Given the description of an element on the screen output the (x, y) to click on. 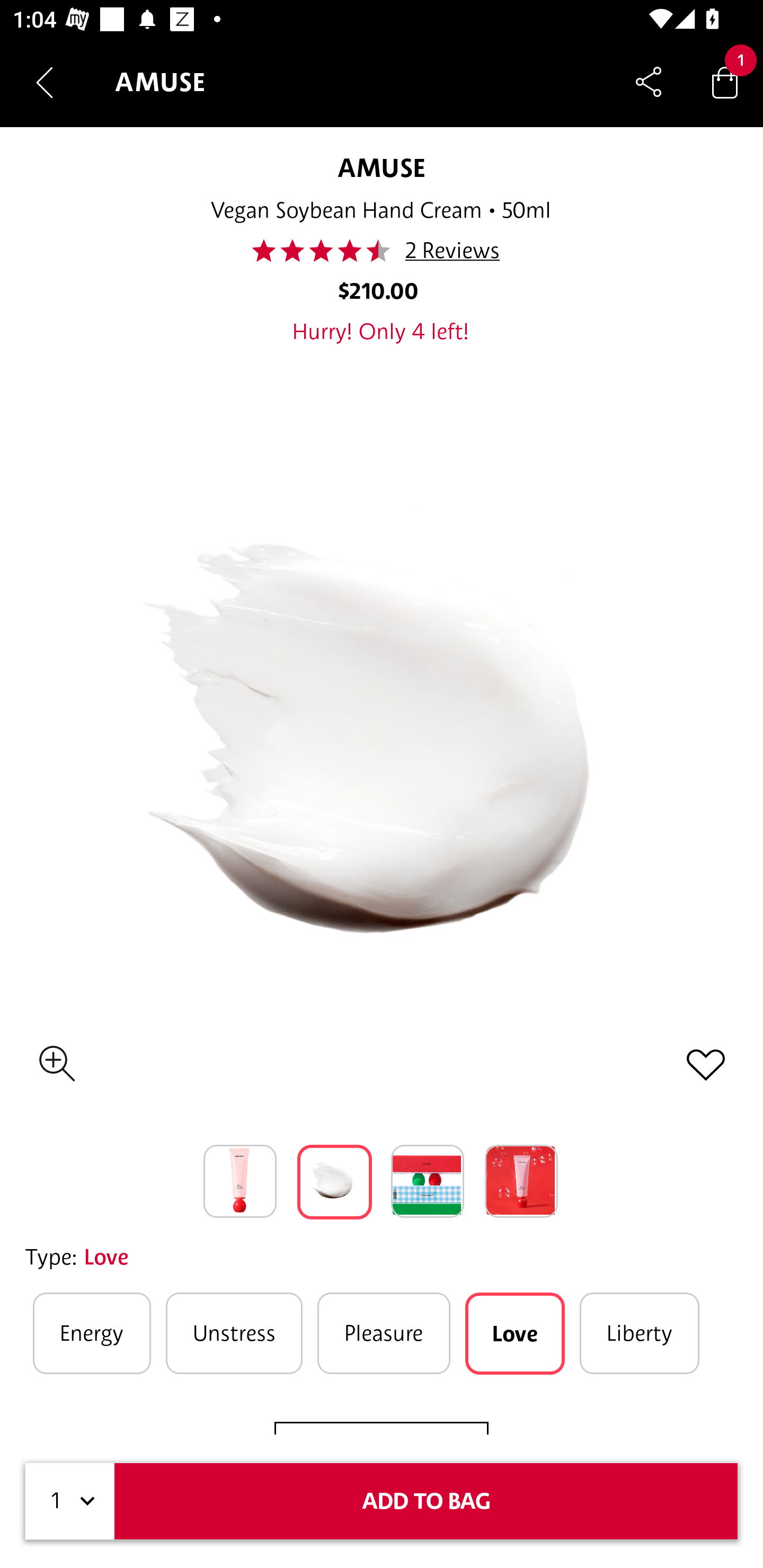
Navigate up (44, 82)
Share (648, 81)
Bag (724, 81)
AMUSE (380, 167)
45.0 2 Reviews (380, 250)
Energy (91, 1332)
Unstress (233, 1332)
Pleasure (383, 1332)
Love (514, 1333)
Liberty (639, 1332)
1 (69, 1500)
ADD TO BAG (425, 1500)
